Given the description of an element on the screen output the (x, y) to click on. 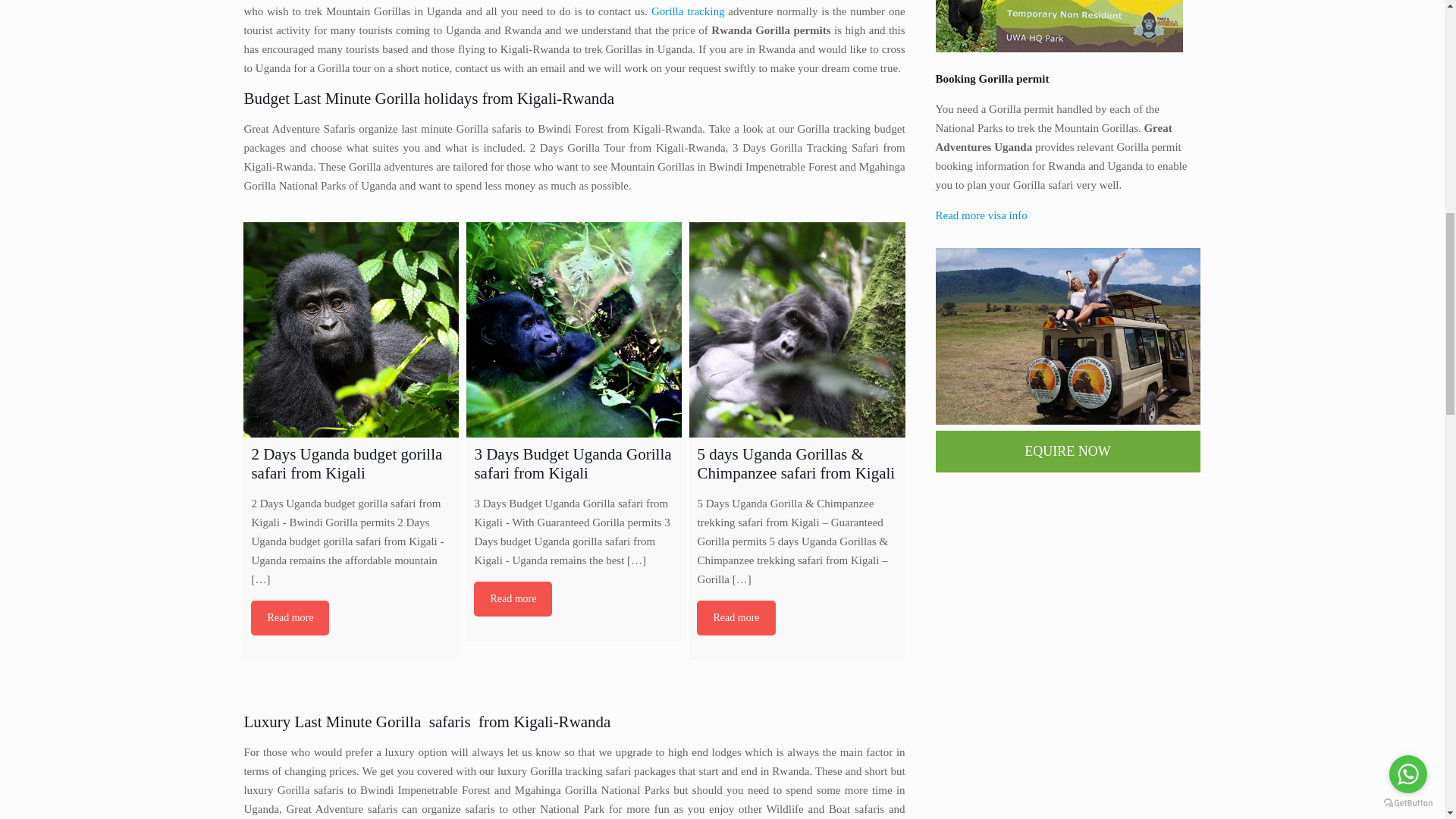
2 Days Uganda budget gorilla safari from Kigali (350, 329)
Read more (289, 617)
Read more (512, 598)
3 Days Budget Uganda Gorilla safari from Kigali (573, 329)
Read more (735, 617)
EQUIRE NOW (1067, 451)
